Given the description of an element on the screen output the (x, y) to click on. 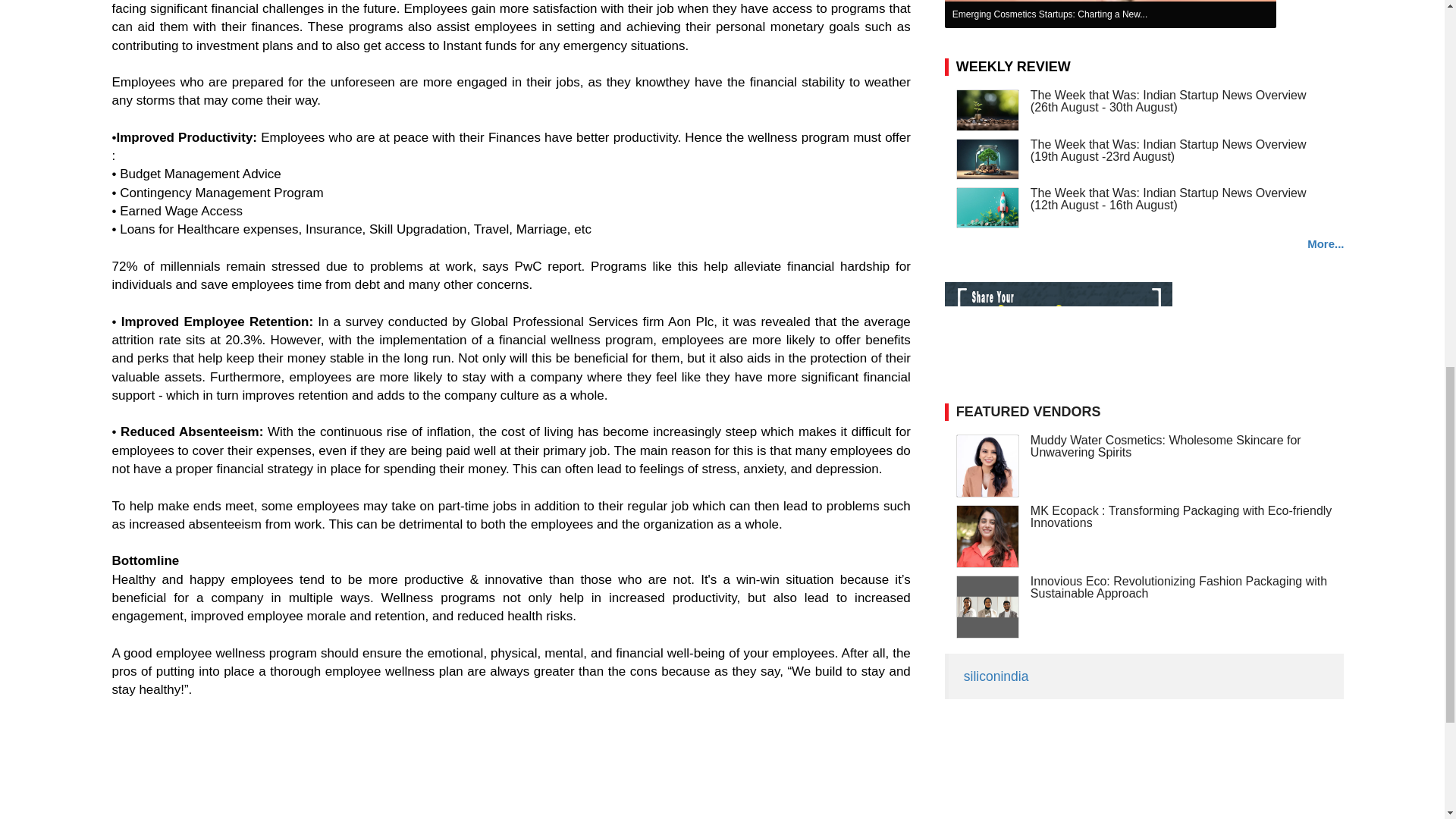
Advertisement (785, 776)
